Given the description of an element on the screen output the (x, y) to click on. 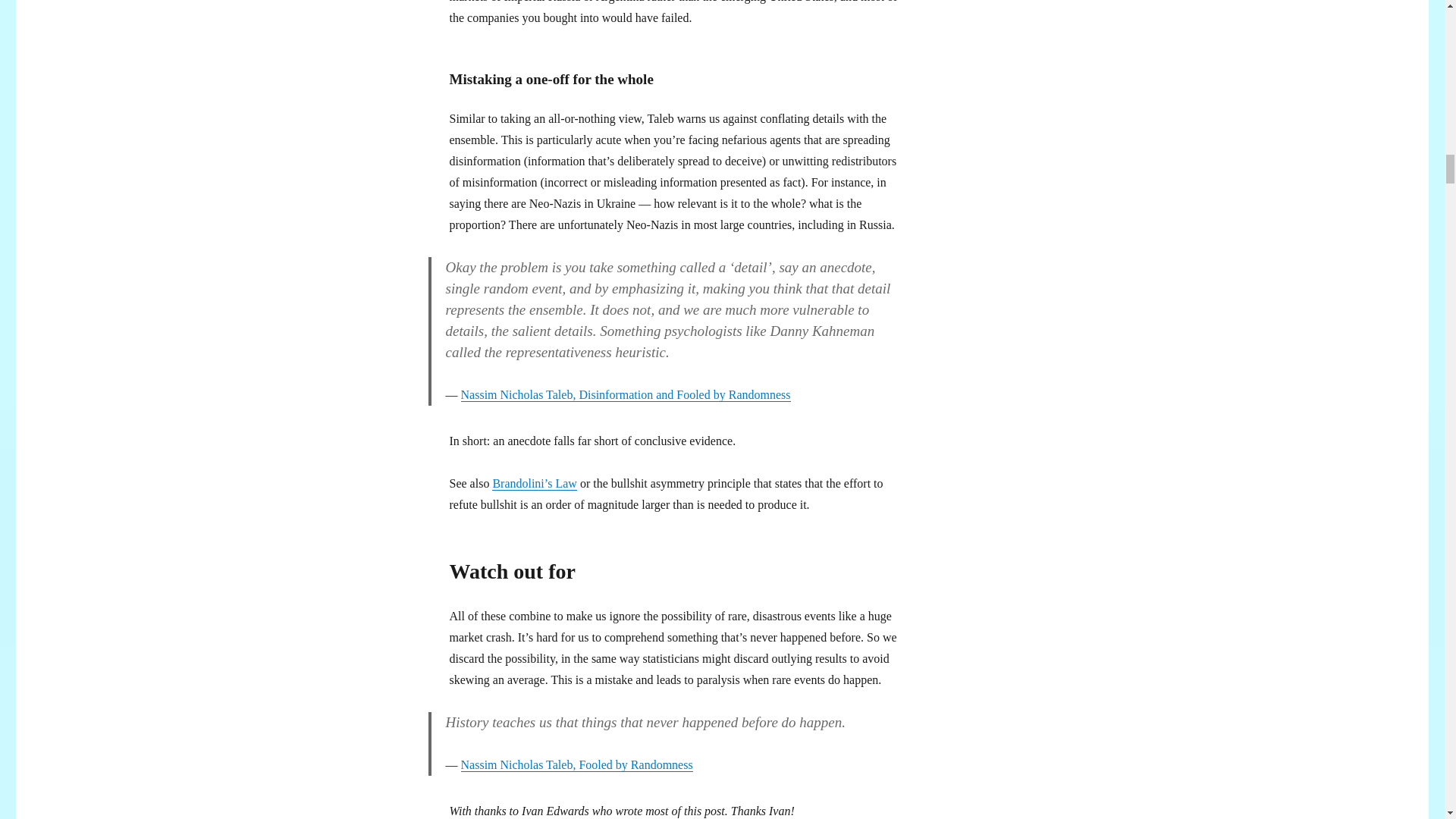
Nassim Nicholas Taleb, Fooled by Randomness (577, 764)
Brandolini's Law (534, 482)
